Given the description of an element on the screen output the (x, y) to click on. 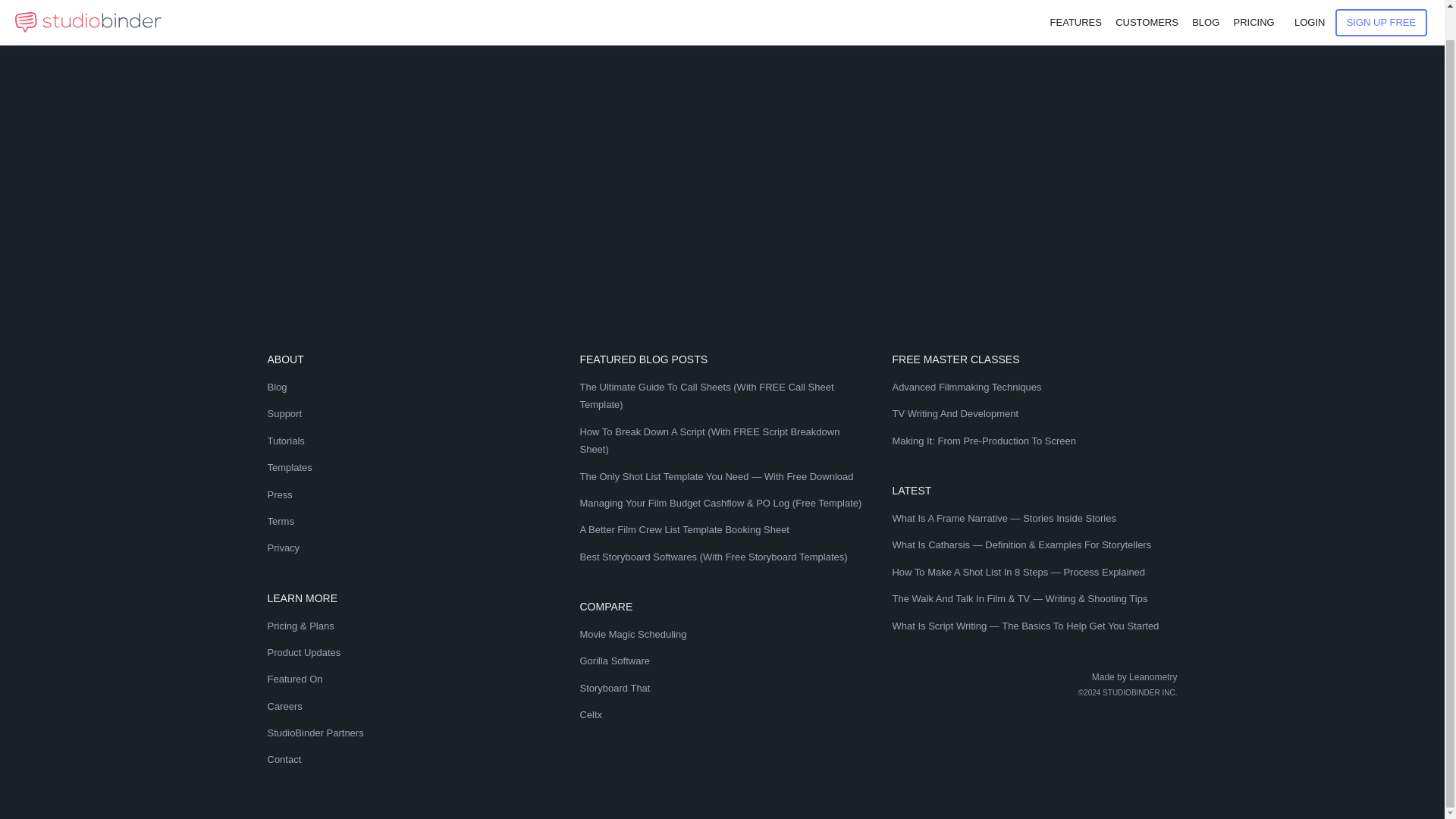
Tutorials (408, 440)
PRICING (1253, 6)
Blog (1206, 6)
Templates (408, 467)
SIGN UP FREE (1381, 2)
BLOG (1206, 6)
CUSTOMERS (1146, 6)
Support (408, 413)
Blog (408, 386)
FEATURES (1075, 6)
Press (408, 494)
LOGIN (1309, 6)
